Given the description of an element on the screen output the (x, y) to click on. 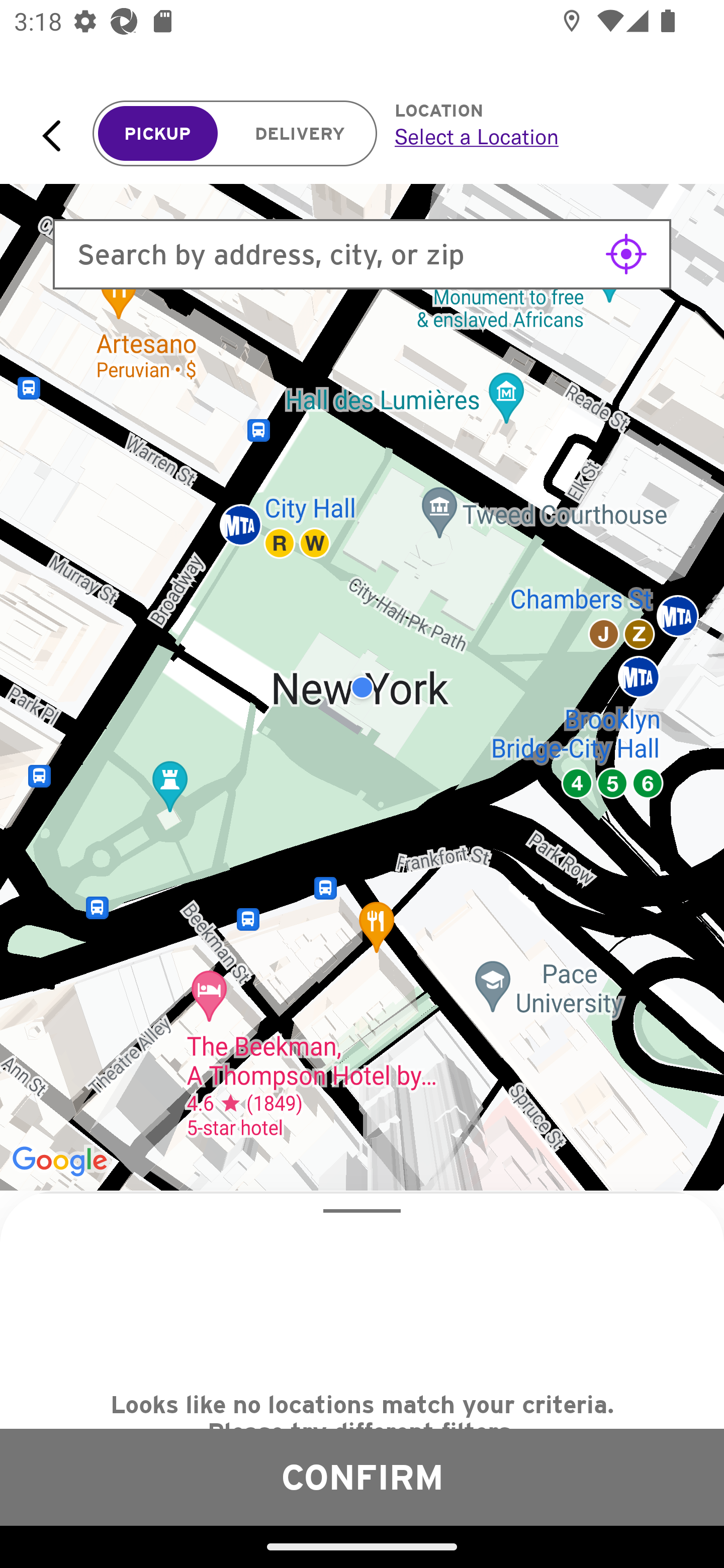
PICKUP (157, 133)
DELIVERY (299, 133)
Select a Location (536, 136)
Search by address, city, or zip (361, 254)
CONFIRM (362, 1476)
